Given the description of an element on the screen output the (x, y) to click on. 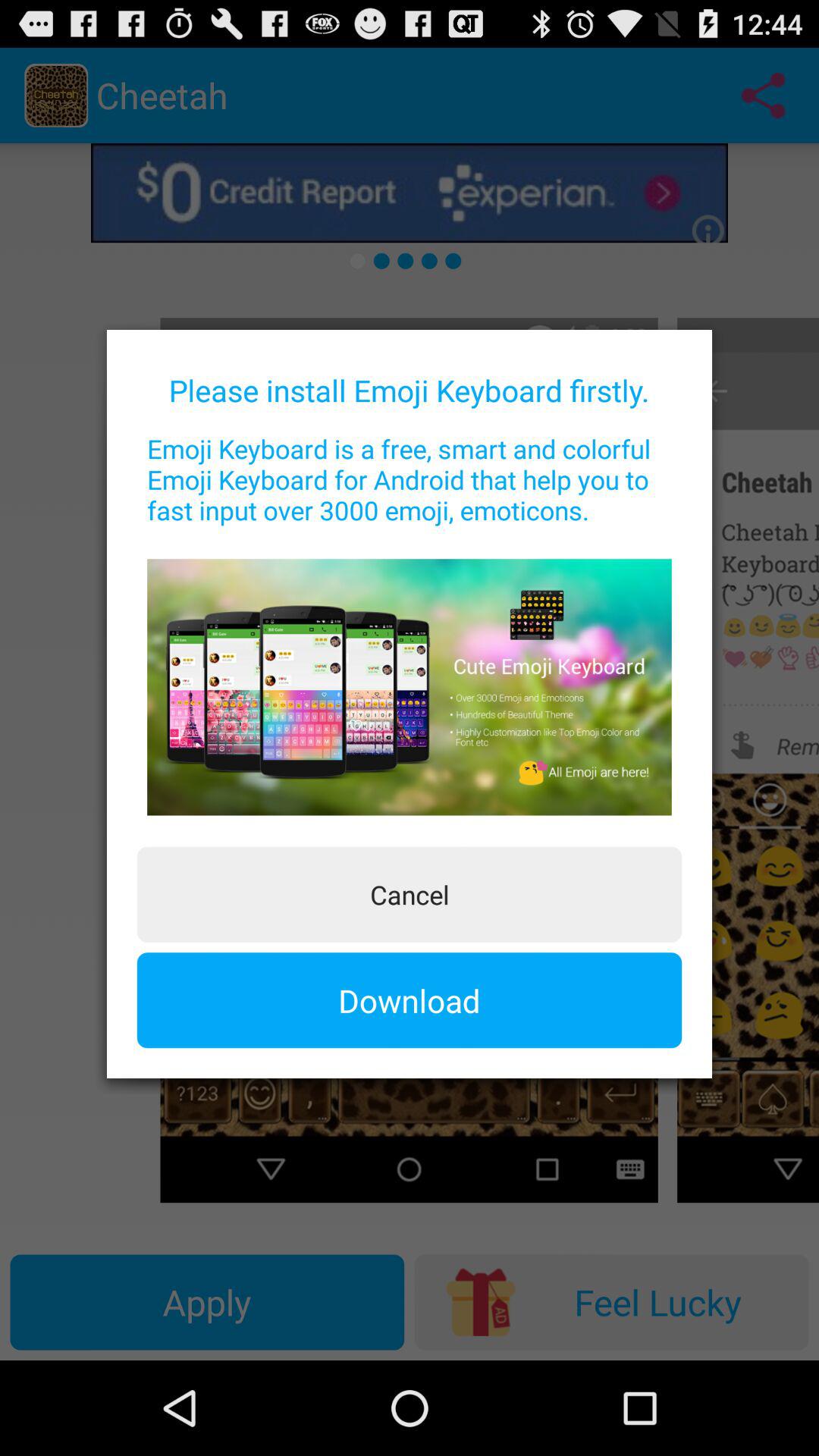
turn off item at the bottom (409, 1000)
